Given the description of an element on the screen output the (x, y) to click on. 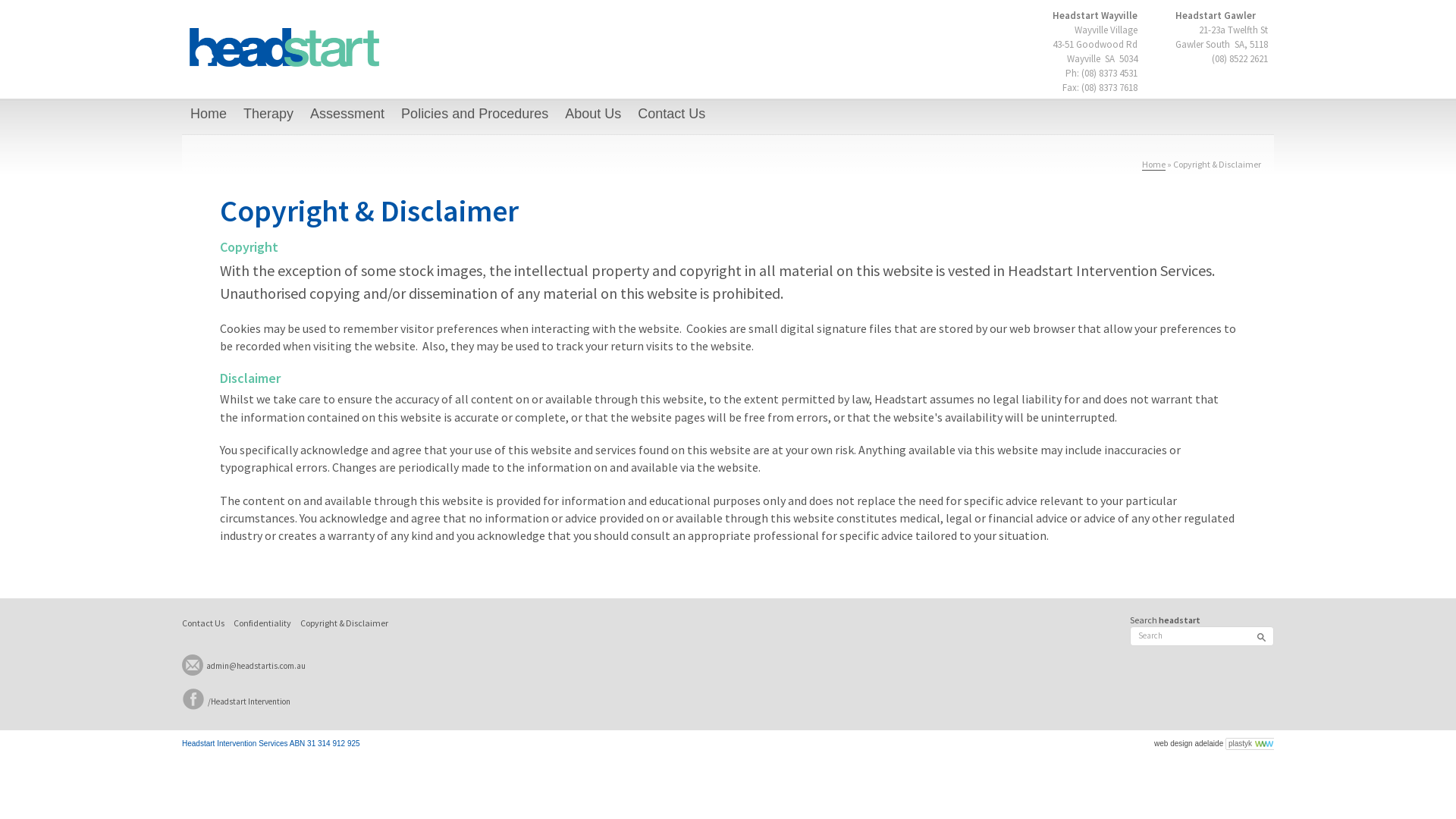
Policies and Procedures Element type: text (474, 114)
Home Element type: text (208, 114)
Home Element type: text (1153, 164)
Confidentiality Element type: text (262, 622)
About Us Element type: text (592, 114)
Go Element type: text (1260, 636)
Contact Us Element type: text (203, 622)
Assessment Element type: text (347, 114)
Headstart Gawler Element type: text (1215, 15)
Headstart Wayville Element type: text (1094, 15)
Therapy Element type: text (268, 114)
  admin@headstartis.com.au Element type: text (243, 665)
plastyk Element type: text (1249, 743)
/Headstart Intervention Element type: text (236, 701)
Copyright & Disclaimer Element type: text (344, 622)
Contact Us Element type: text (671, 114)
